Given the description of an element on the screen output the (x, y) to click on. 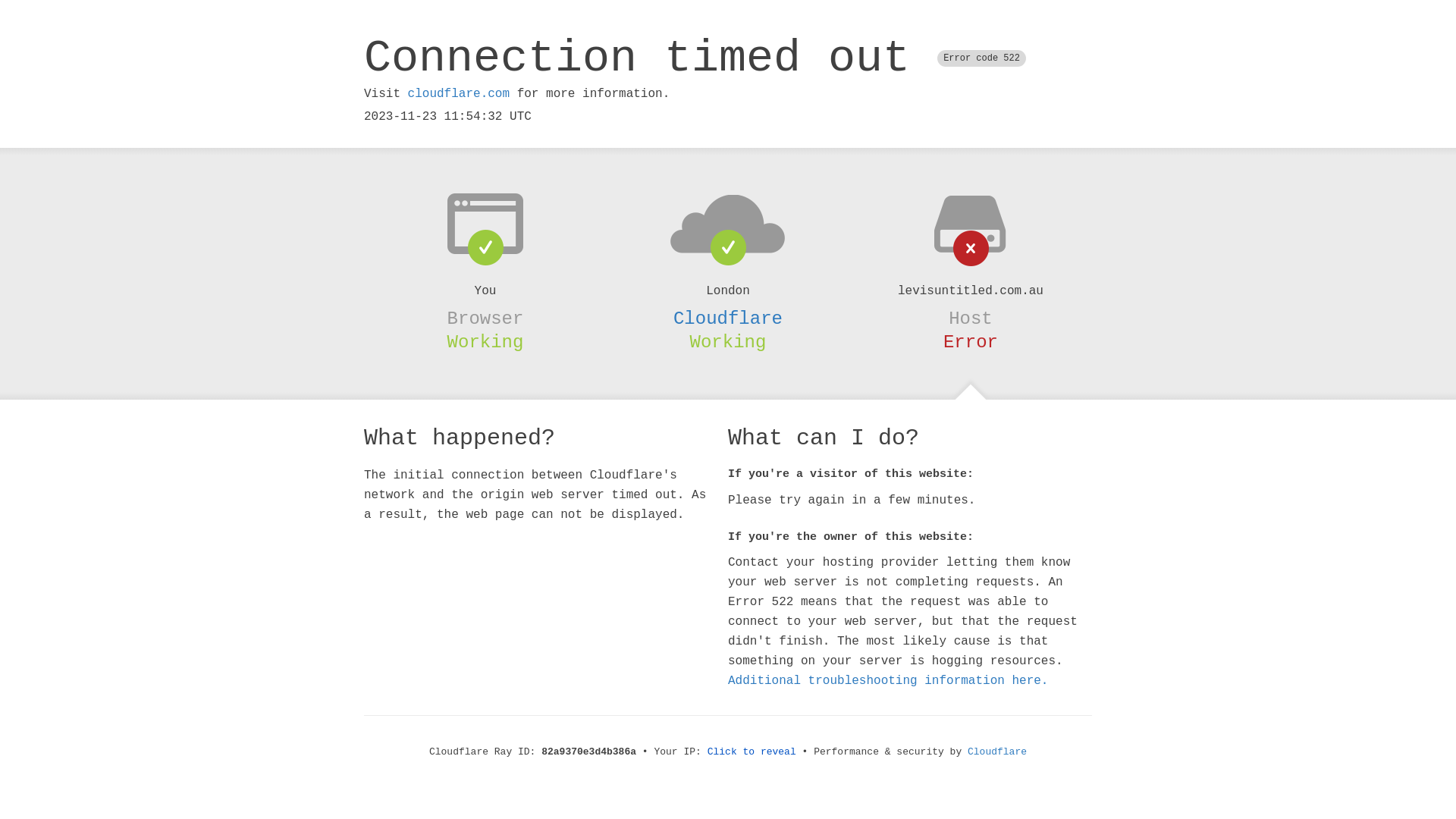
Cloudflare Element type: text (996, 751)
cloudflare.com Element type: text (458, 93)
Click to reveal Element type: text (751, 751)
Cloudflare Element type: text (727, 318)
Additional troubleshooting information here. Element type: text (888, 680)
